Given the description of an element on the screen output the (x, y) to click on. 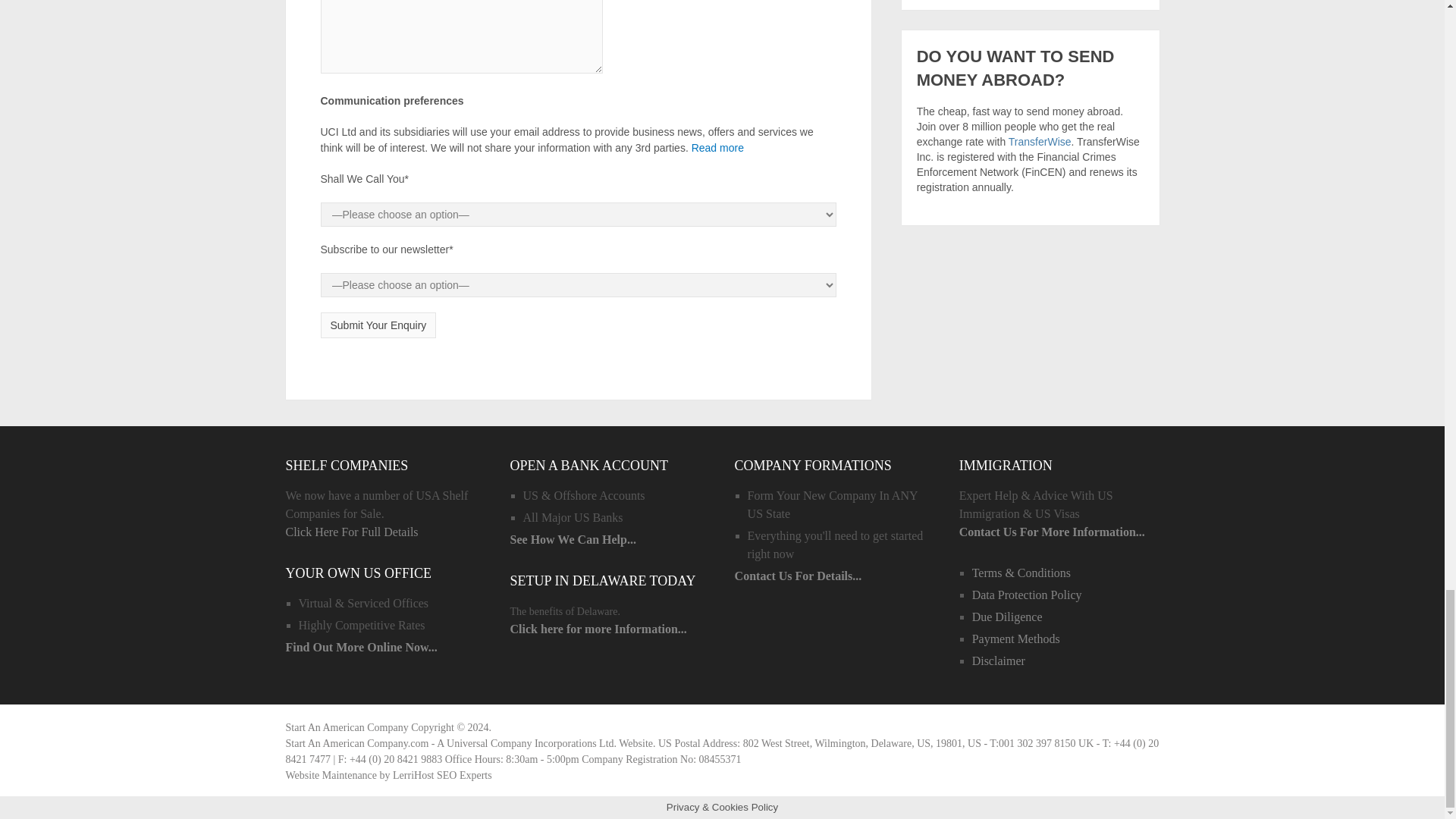
LerriHost SEO Experts (442, 775)
Submit Your Enquiry (377, 325)
Read more (717, 147)
Submit Your Enquiry (377, 325)
